Given the description of an element on the screen output the (x, y) to click on. 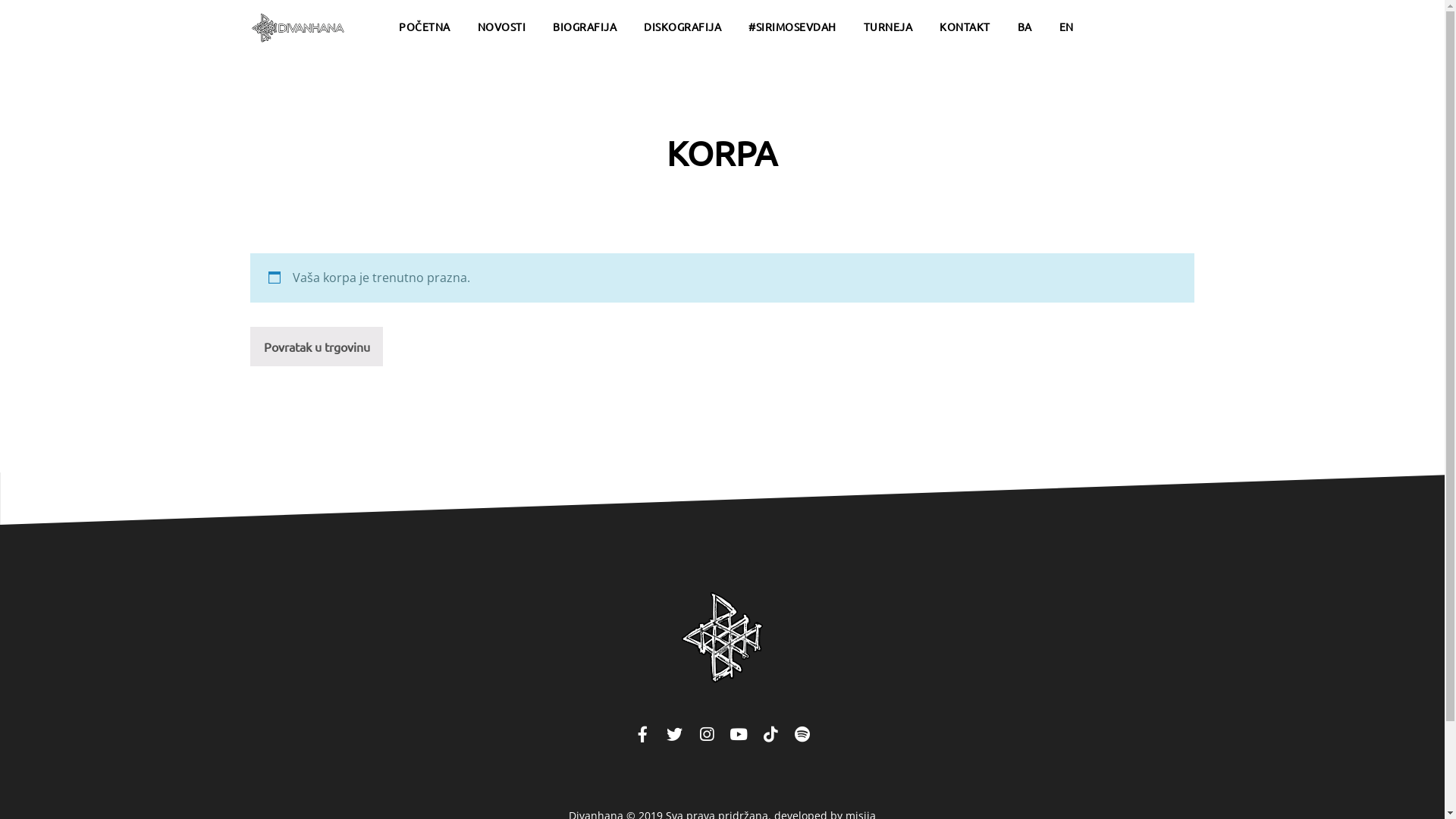
DISKOGRAFIJA Element type: text (682, 27)
Povratak u trgovinu Element type: text (316, 345)
BA Element type: text (1023, 27)
KONTAKT Element type: text (964, 27)
NOVOSTI Element type: text (500, 27)
BIOGRAFIJA Element type: text (584, 27)
EN Element type: text (1066, 27)
#SIRIMOSEVDAH Element type: text (792, 27)
TURNEJA Element type: text (888, 27)
